Given the description of an element on the screen output the (x, y) to click on. 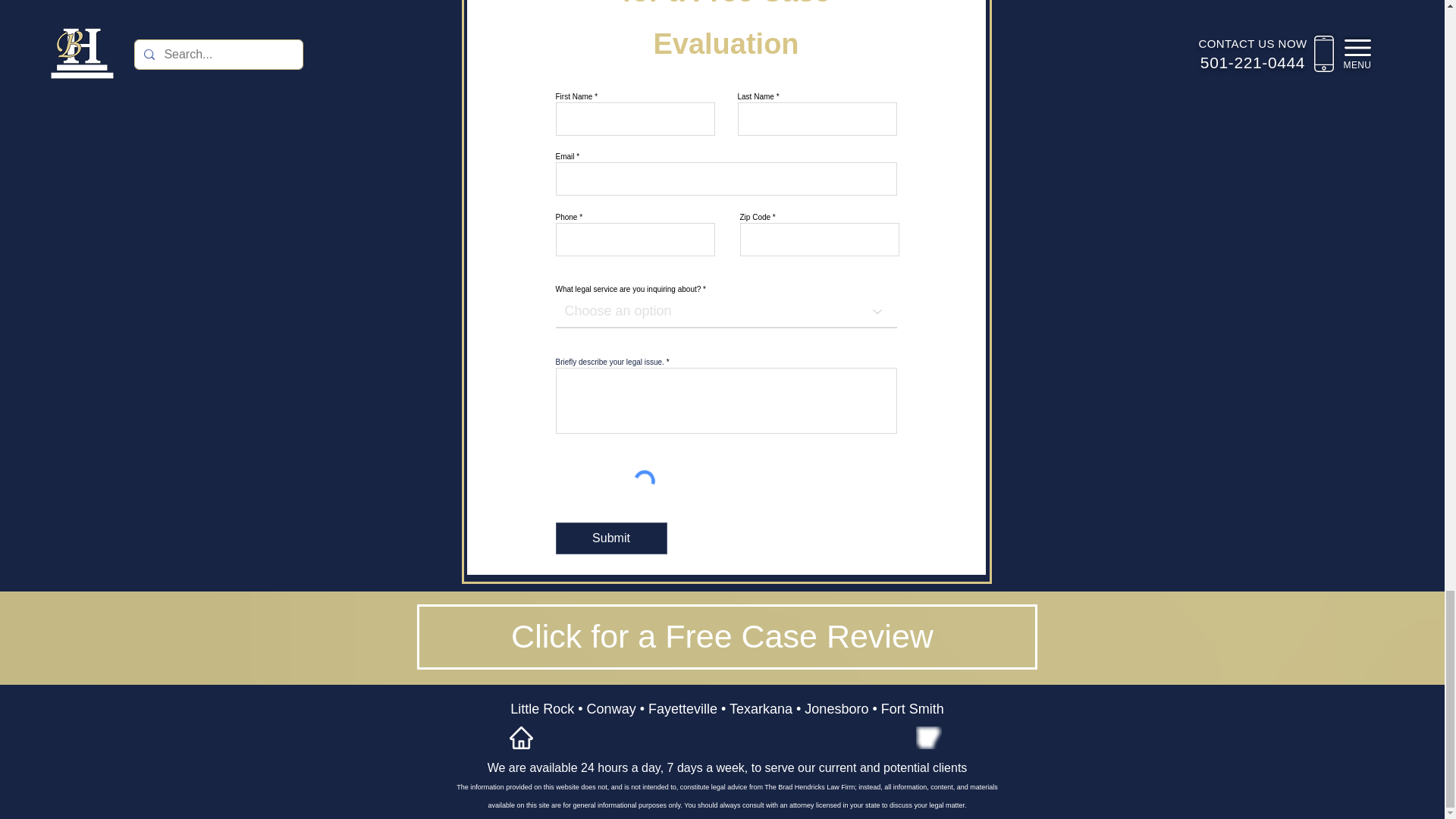
Submit (610, 538)
Conway (611, 708)
Click for a Free Case Review (722, 636)
Little Rock (542, 708)
Fayetteville (682, 708)
Texarkana (760, 708)
